Given the description of an element on the screen output the (x, y) to click on. 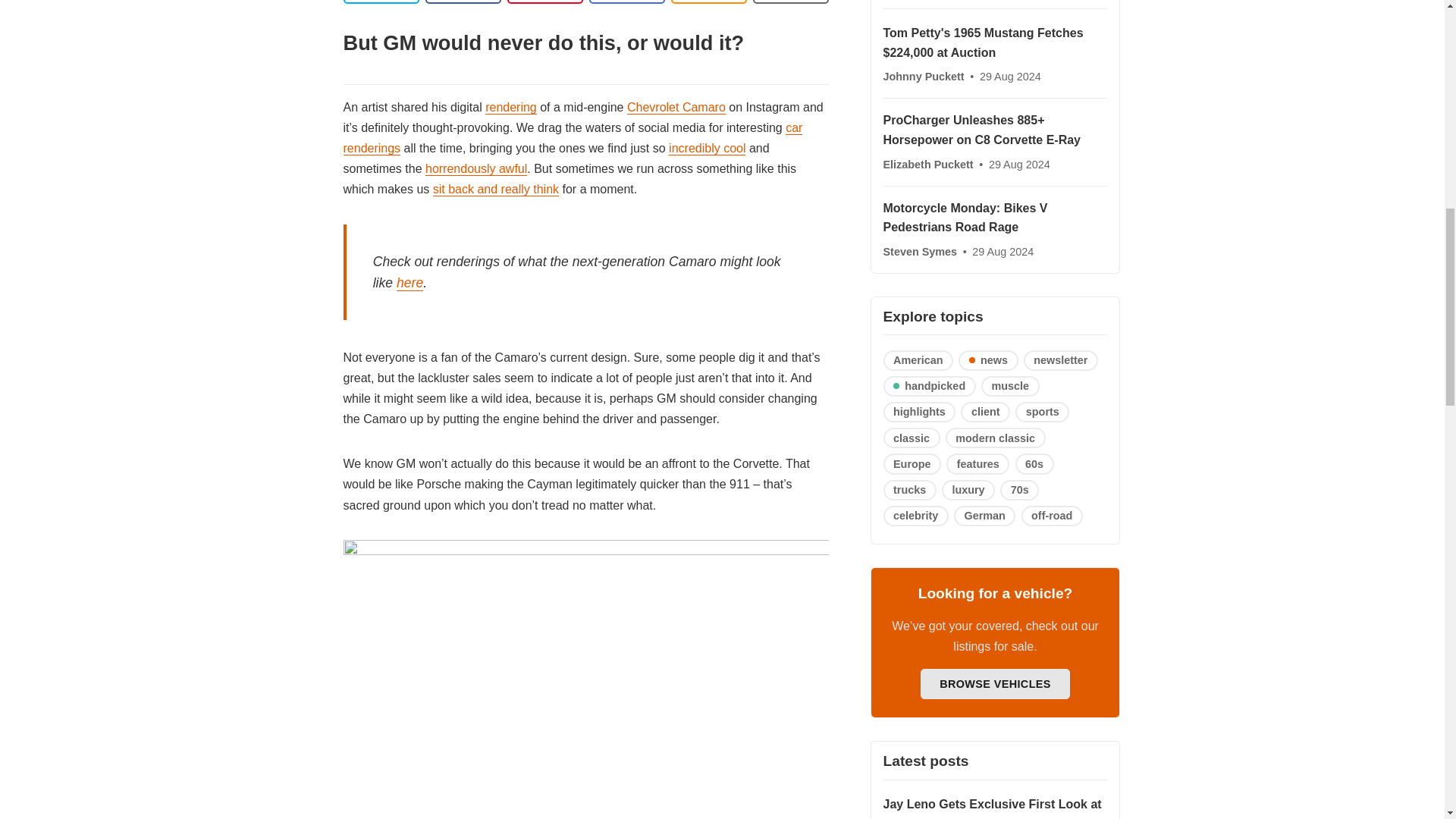
Share on Twitter (380, 1)
Share on Linkedin (544, 1)
Elizabeth Puckett (928, 164)
Copy to clipboard (707, 1)
Chevrolet Camaro (676, 107)
American (917, 360)
news (987, 360)
Bookmark (790, 1)
Johnny Puckett (924, 76)
Share by email (625, 1)
